Given the description of an element on the screen output the (x, y) to click on. 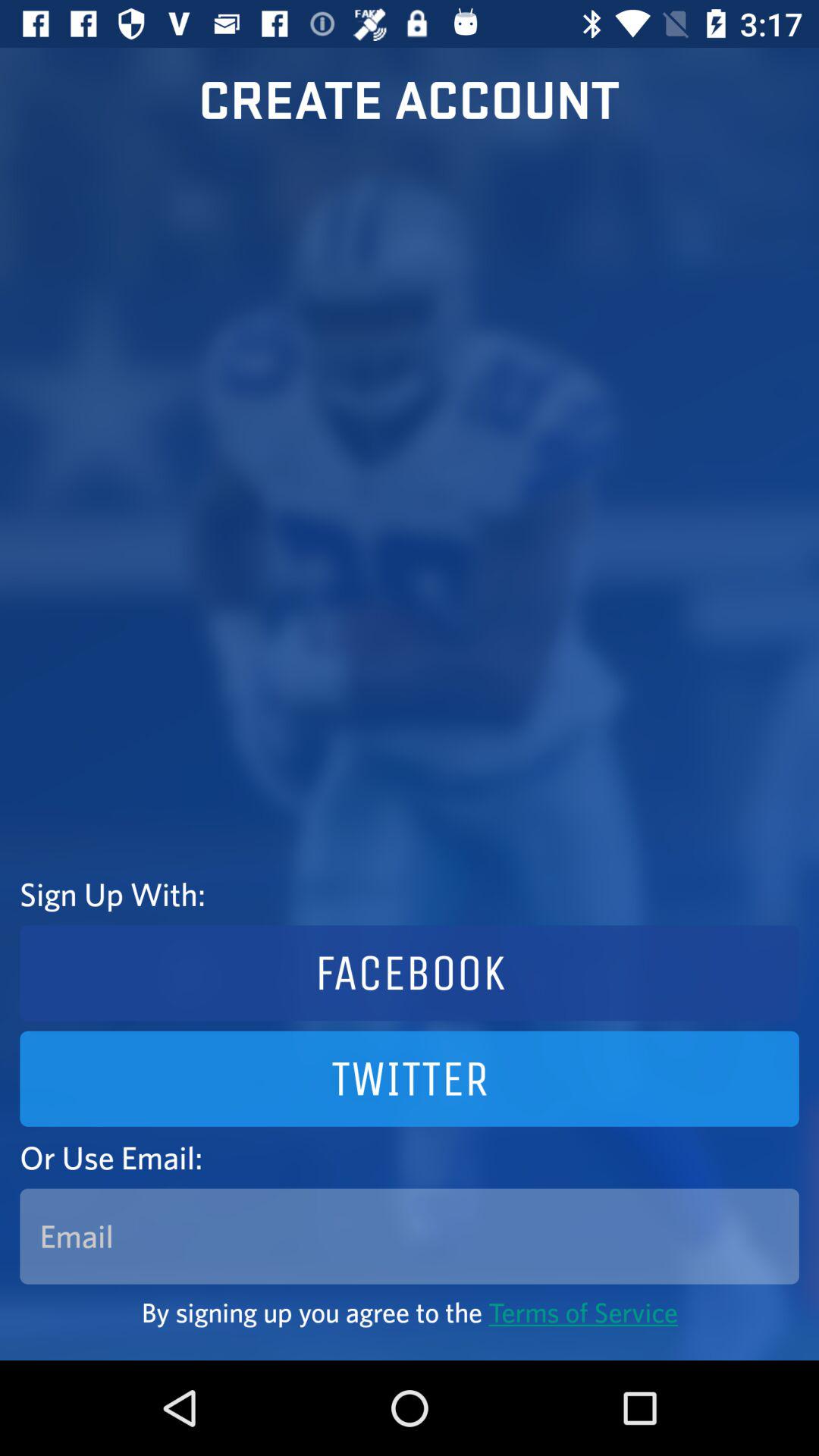
tap the icon above the or use email: (409, 1078)
